Given the description of an element on the screen output the (x, y) to click on. 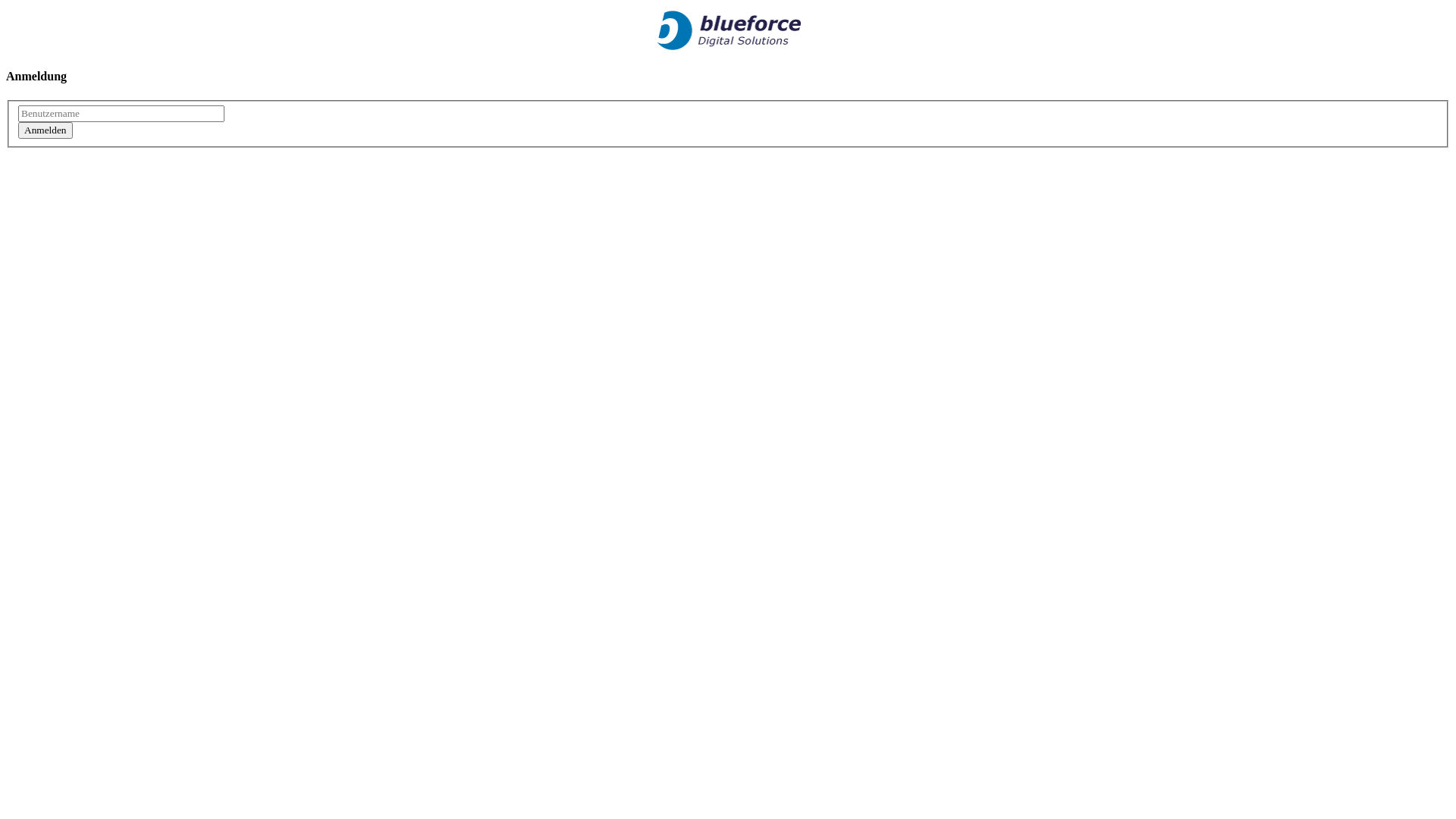
Anmelden Element type: text (45, 130)
